Given the description of an element on the screen output the (x, y) to click on. 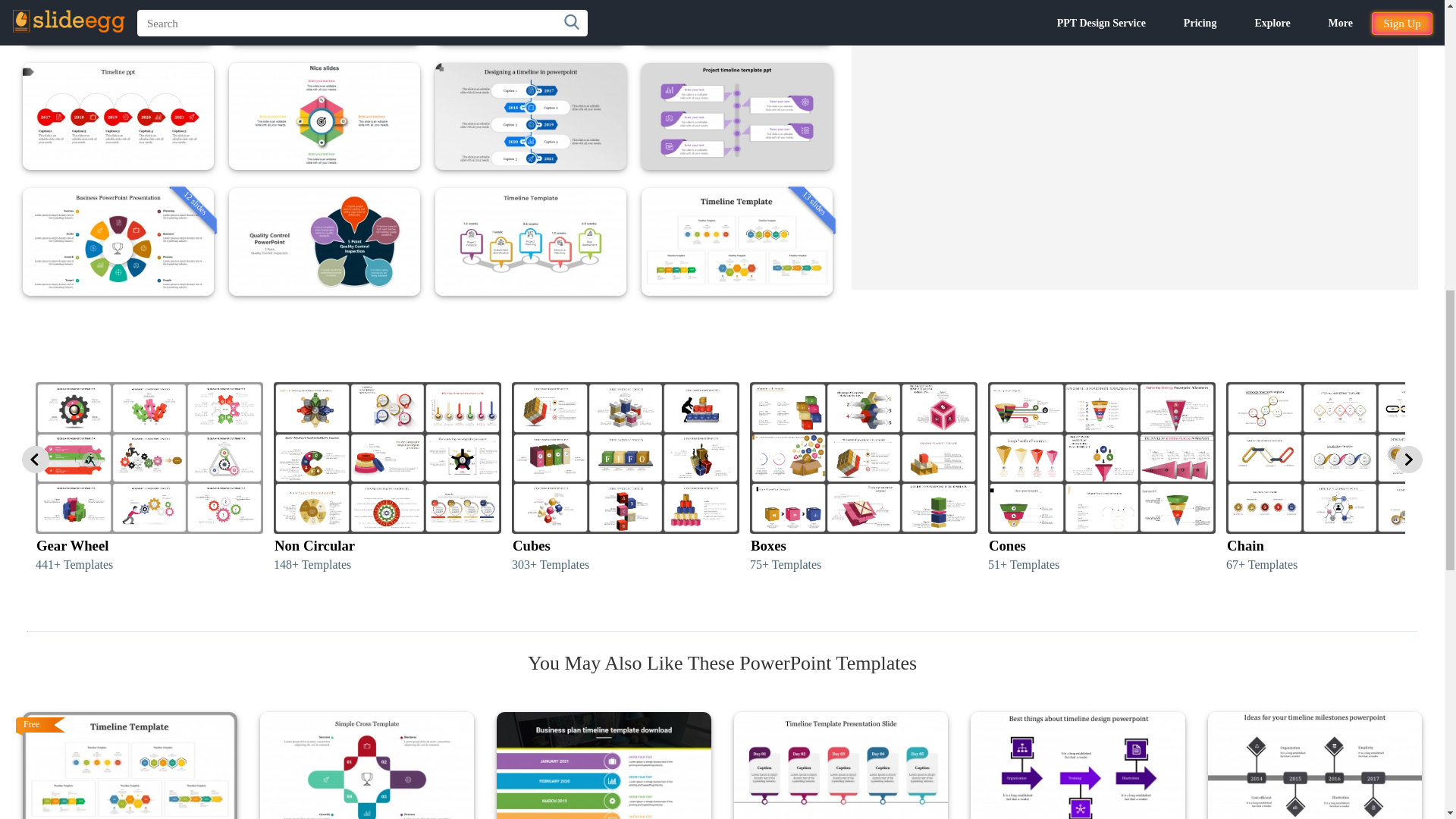
Attractive Timeline Design PowerPoint With Three Nodes (1078, 765)
Use Our Timeline PowerPoint and Google Slides Templates (130, 765)
Four Node Business Plan Timeline Template Download (603, 765)
Effective Simple Cross Template Presentation Slide  (366, 765)
Best Timeline Template Presentation Slide (841, 765)
